Given the description of an element on the screen output the (x, y) to click on. 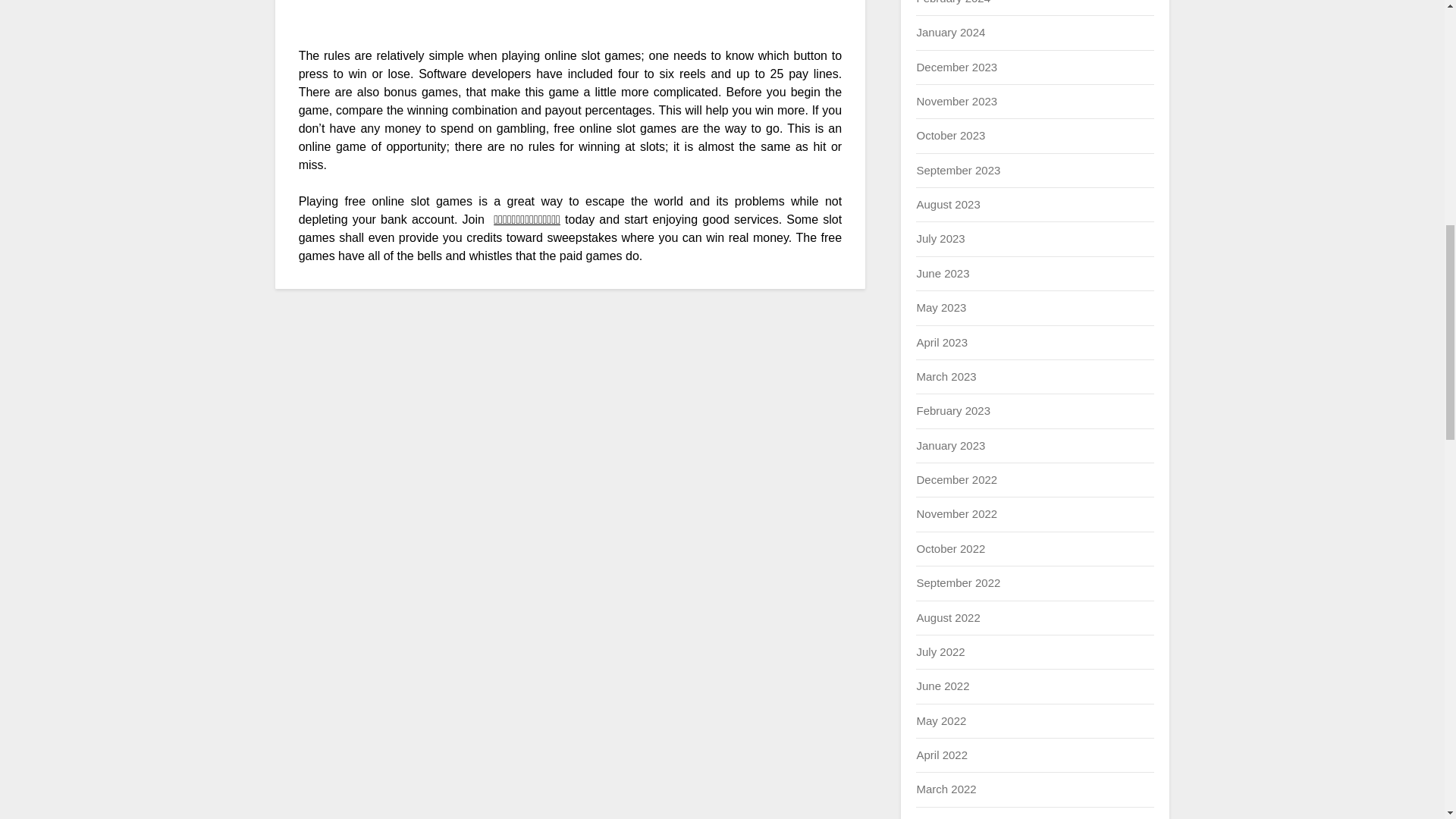
April 2023 (941, 341)
September 2023 (957, 169)
October 2022 (950, 548)
November 2023 (956, 101)
November 2022 (956, 513)
August 2022 (947, 617)
August 2023 (947, 204)
January 2024 (950, 31)
May 2023 (940, 307)
June 2022 (942, 685)
